Given the description of an element on the screen output the (x, y) to click on. 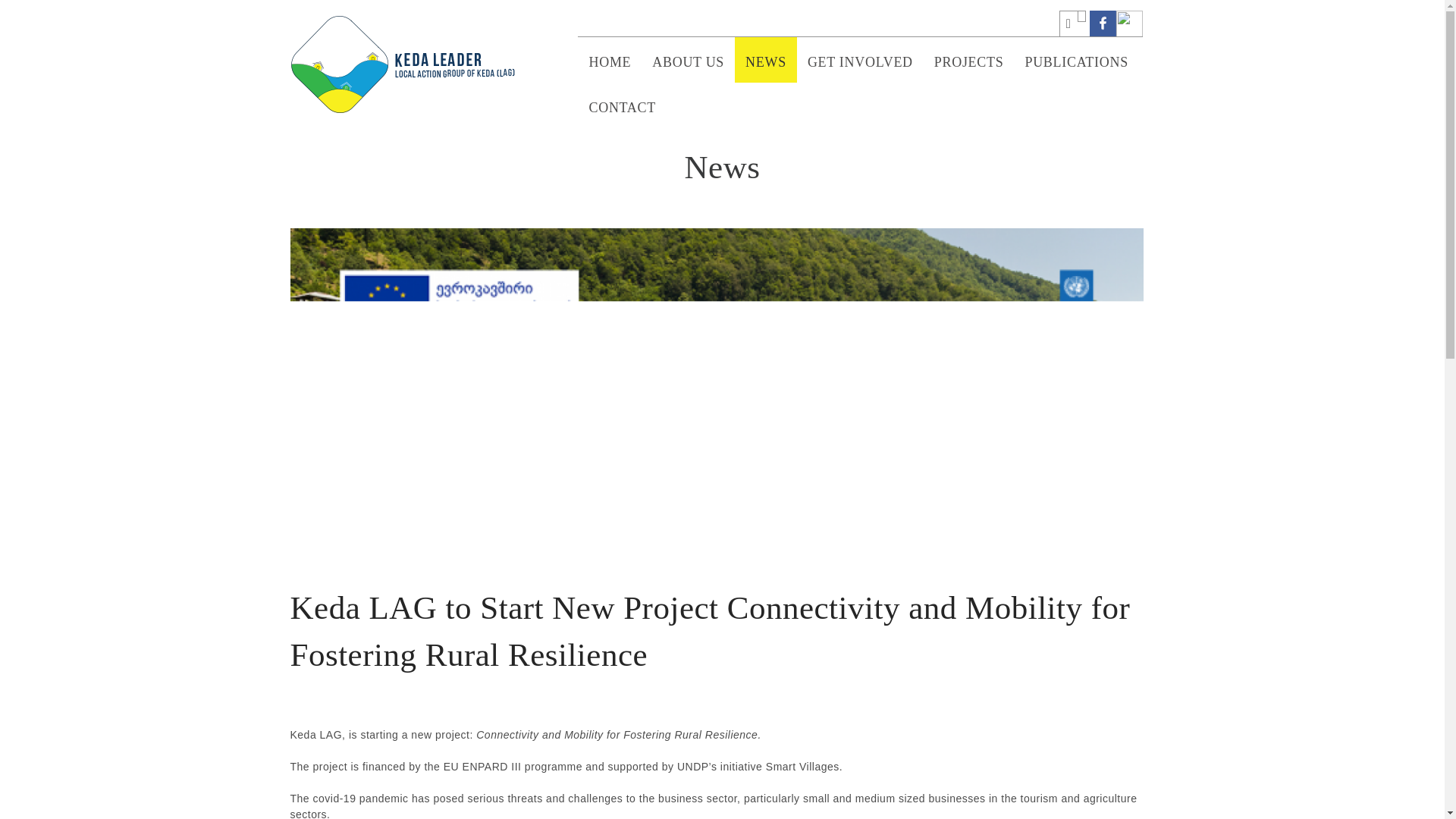
News (722, 167)
PUBLICATIONS (1075, 59)
HOME (610, 59)
NEWS (765, 59)
PROJECTS (968, 59)
CONTACT (621, 104)
ABOUT US (688, 59)
GET INVOLVED (859, 59)
